Given the description of an element on the screen output the (x, y) to click on. 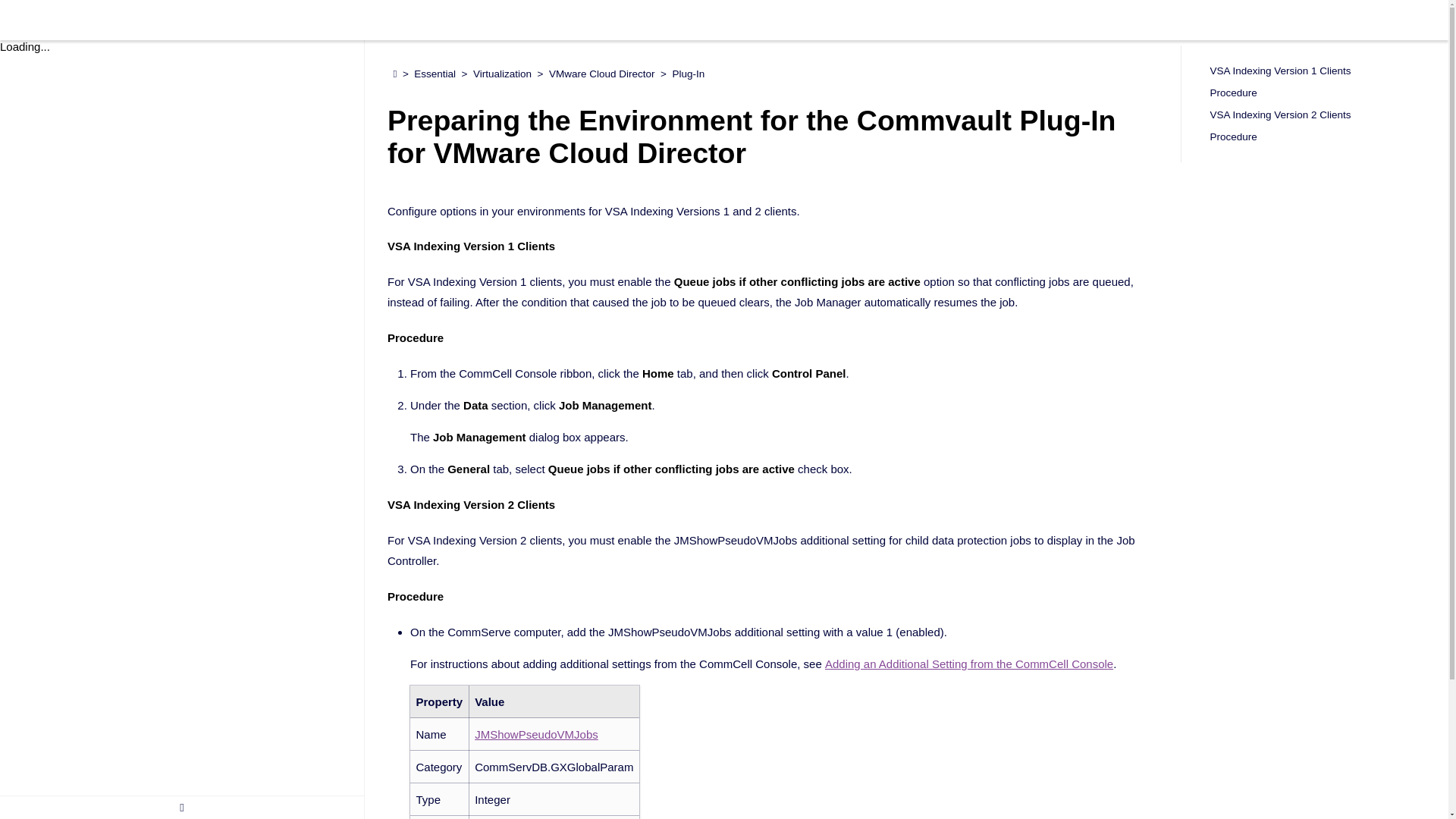
Essential (435, 73)
JMShowPseudoVMJobs (536, 734)
VMware Cloud Director (602, 73)
Hide the navigation (182, 807)
Virtualization (502, 73)
Procedure (1313, 136)
VSA Indexing Version 1 Clients (1313, 70)
Adding an Additional Setting from the CommCell Console (969, 663)
Procedure (1313, 93)
VSA Indexing Version 2 Clients (1313, 115)
Plug-In (688, 73)
